Given the description of an element on the screen output the (x, y) to click on. 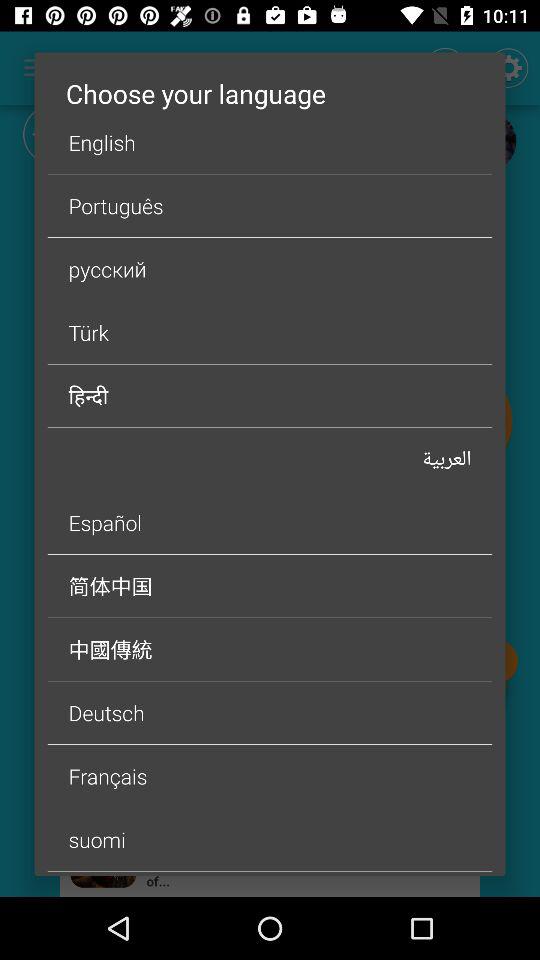
turn on the item below the choose your language icon (269, 142)
